Given the description of an element on the screen output the (x, y) to click on. 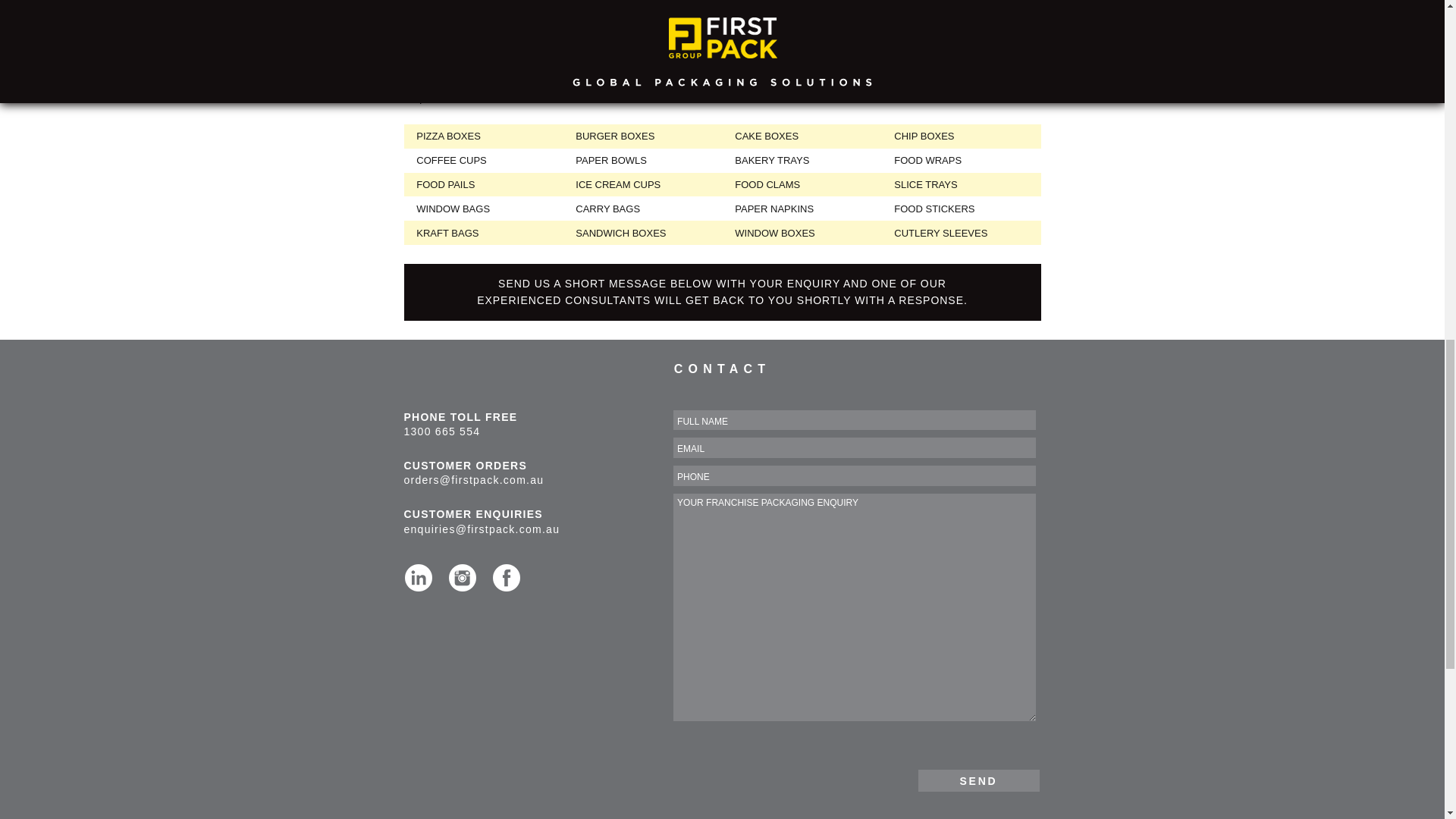
SEND (978, 780)
SEND (978, 780)
